Given the description of an element on the screen output the (x, y) to click on. 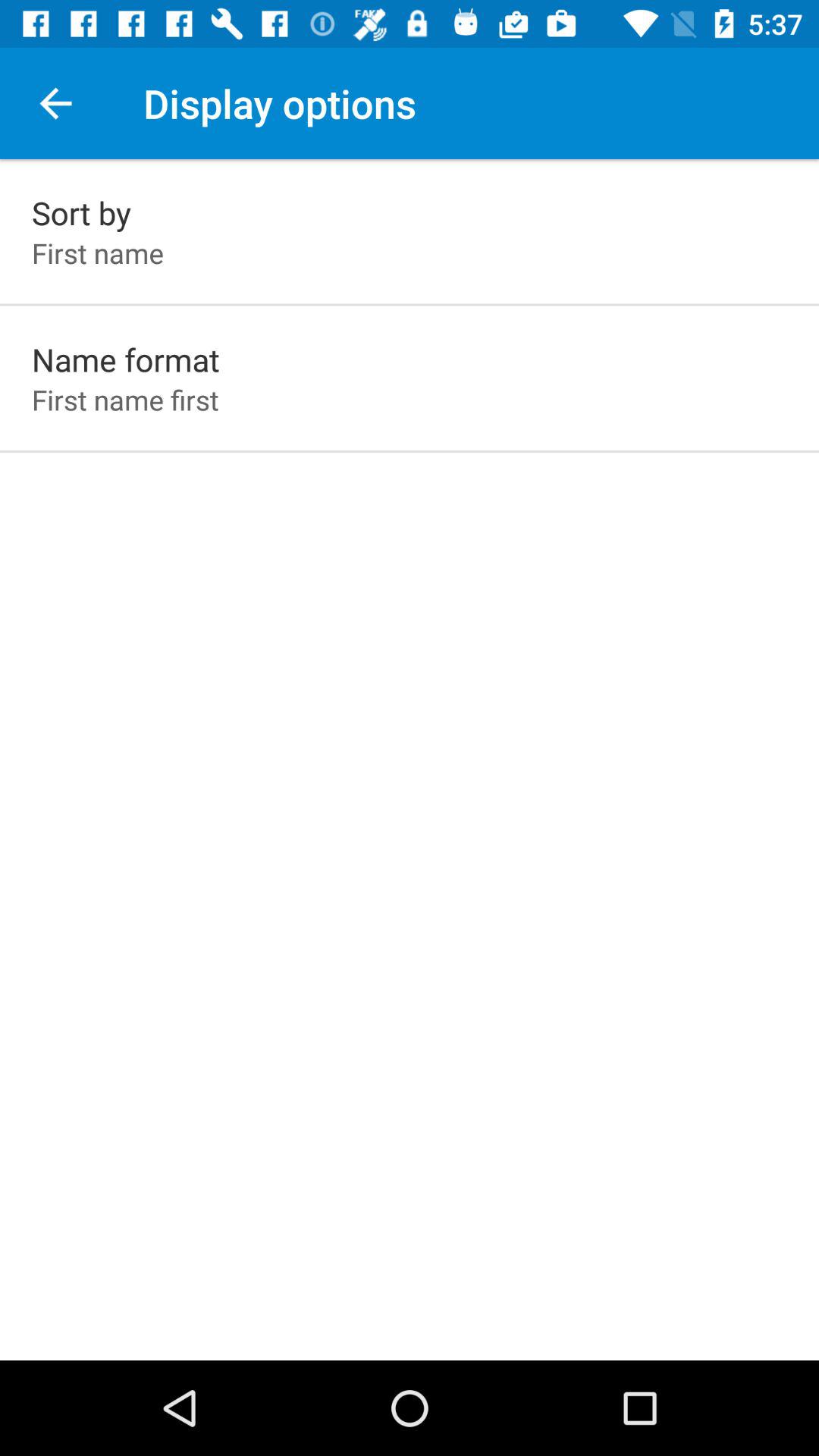
choose the icon to the left of the display options app (55, 103)
